Given the description of an element on the screen output the (x, y) to click on. 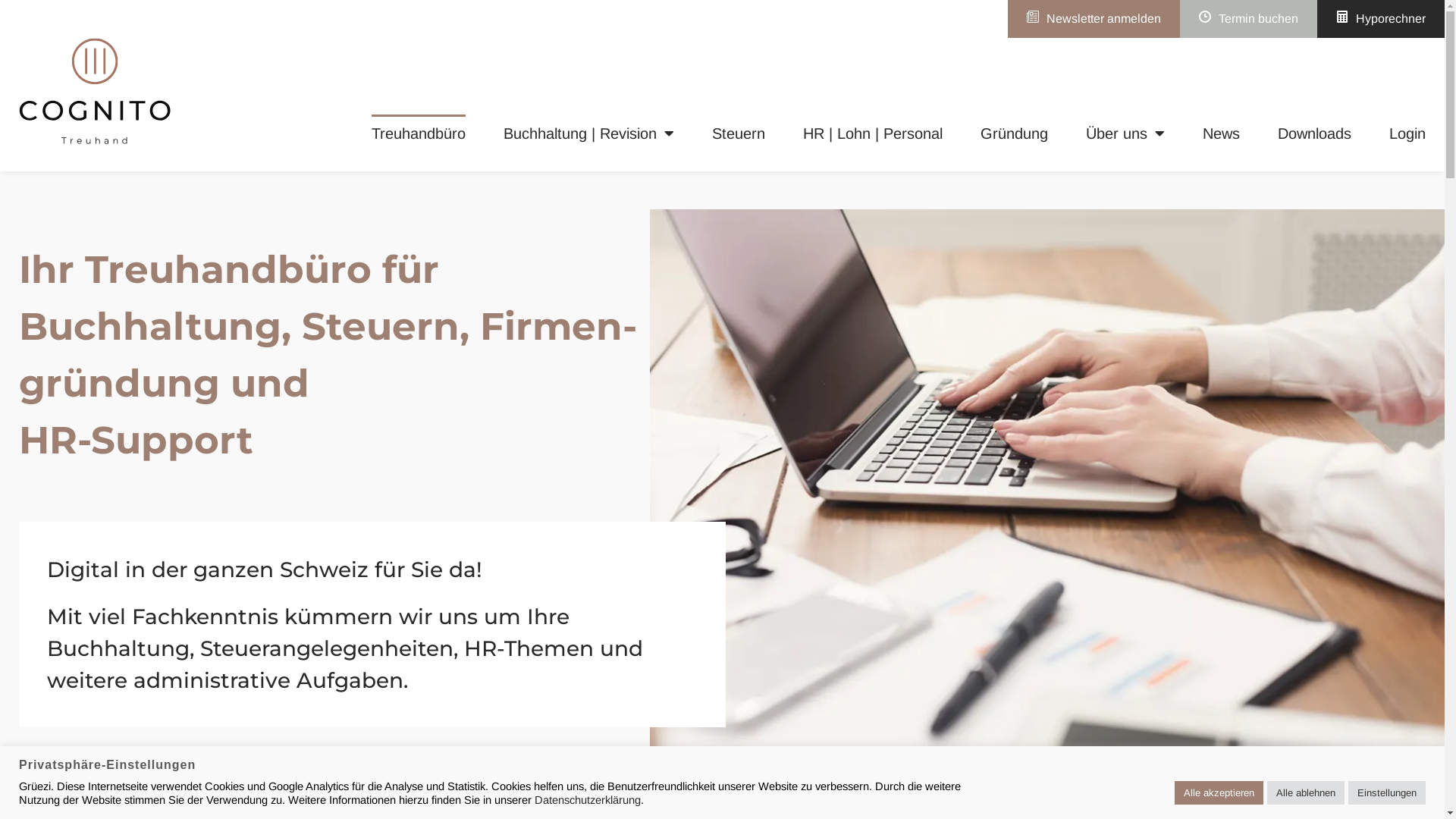
Termin buchen Element type: text (1248, 18)
Login Element type: text (1407, 133)
Alle akzeptieren Element type: text (1218, 792)
Downloads Element type: text (1314, 133)
Buchhaltung | Revision Element type: text (588, 133)
Steuern Element type: text (738, 133)
Alle ablehnen Element type: text (1305, 792)
HR | Lohn | Personal Element type: text (872, 133)
Einstellungen Element type: text (1386, 792)
Newsletter anmelden Element type: text (1093, 18)
News Element type: text (1220, 133)
